Given the description of an element on the screen output the (x, y) to click on. 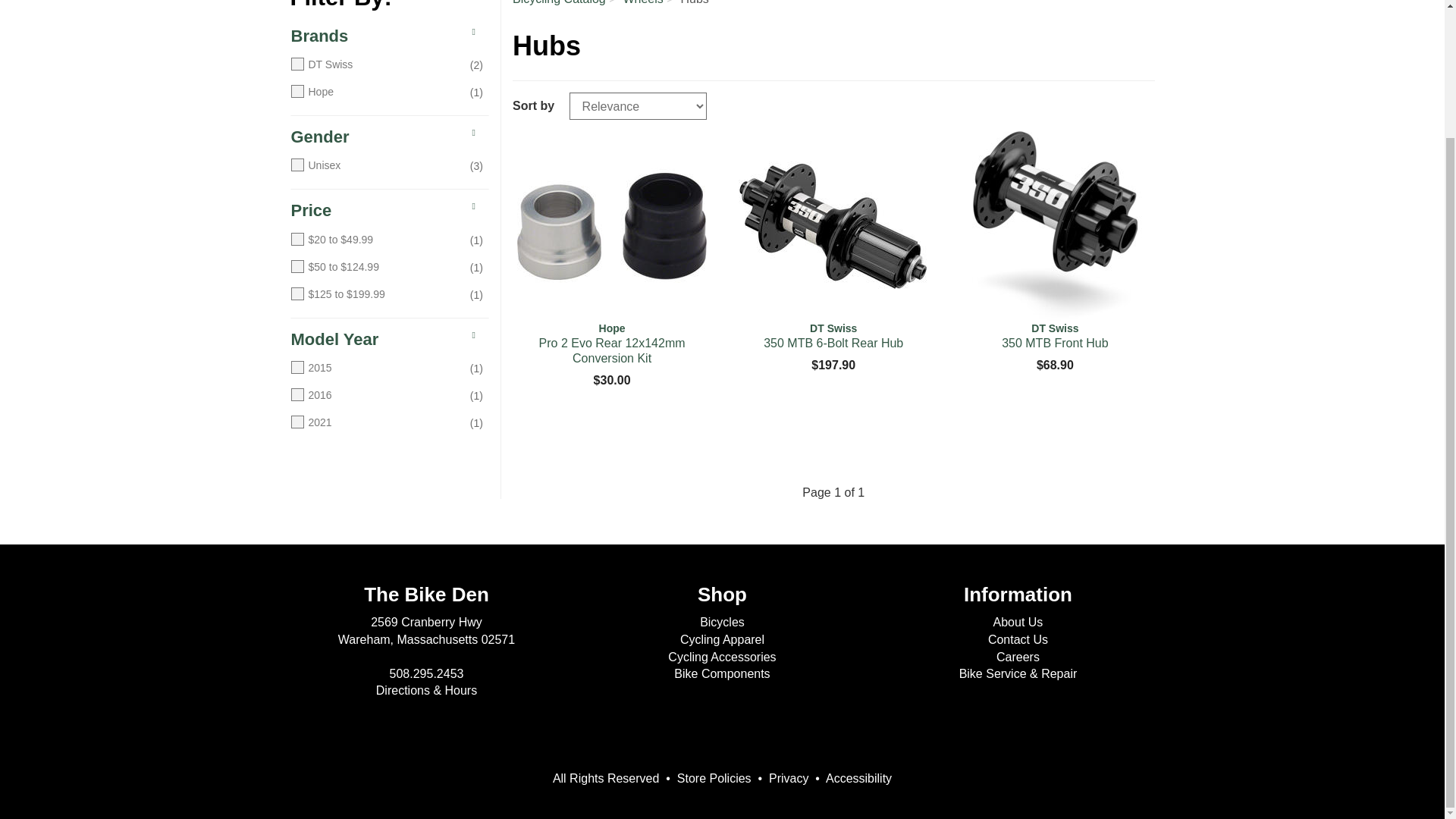
DT Swiss 350 MTB 6-Bolt Rear Hub (833, 336)
DT Swiss 350 MTB Front Hub (1054, 226)
DT Swiss 350 MTB Front Hub (1054, 336)
Hope Pro 2 Evo Rear 12x142mm Conversion Kit (611, 343)
Hope Pro 2 Evo Rear 12x142mm Conversion Kit (611, 226)
DT Swiss 350 MTB 6-Bolt Rear Hub (833, 226)
